Given the description of an element on the screen output the (x, y) to click on. 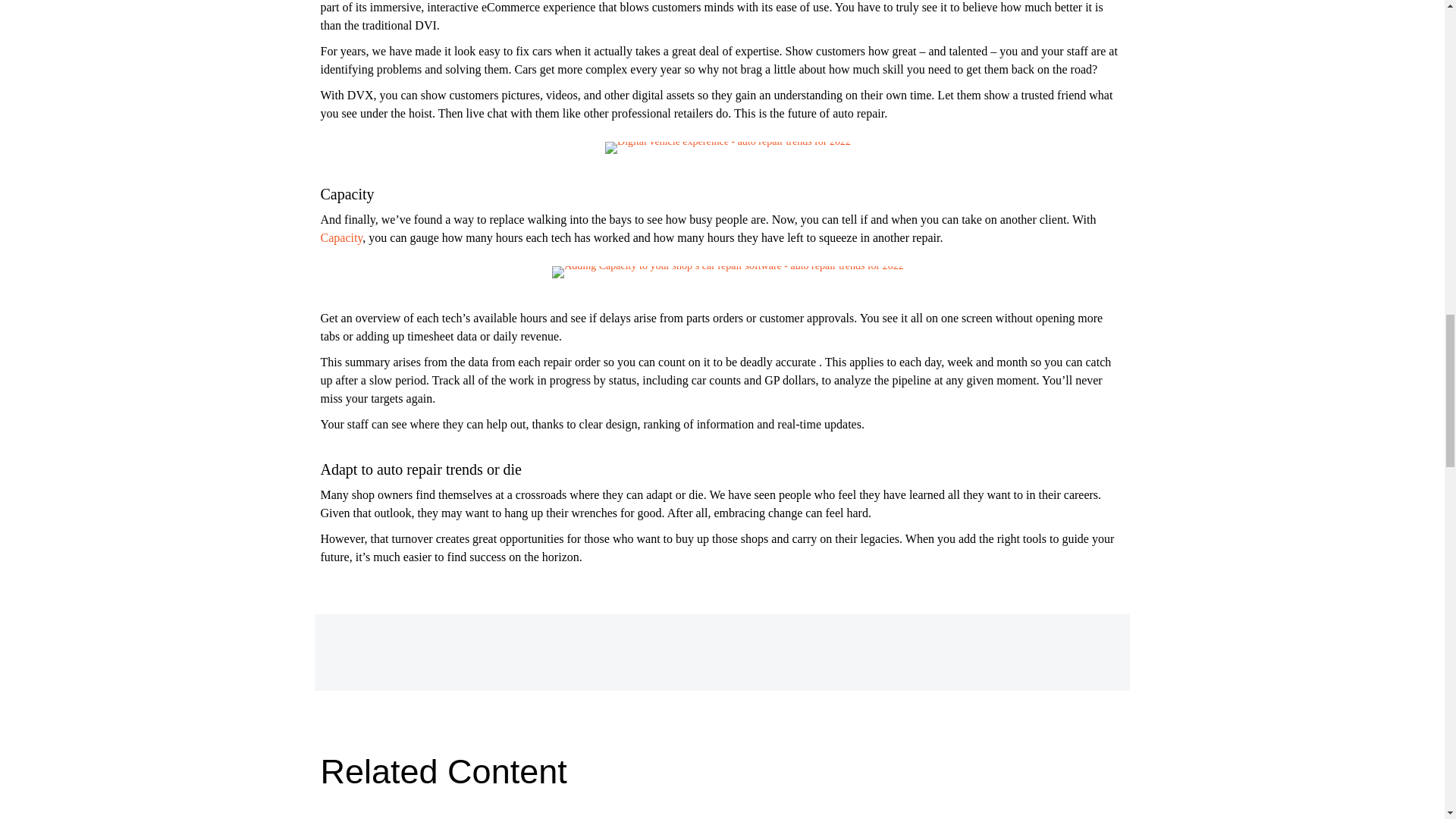
Digital vehicle expereince - auto repair trends for 2022 (722, 147)
